Given the description of an element on the screen output the (x, y) to click on. 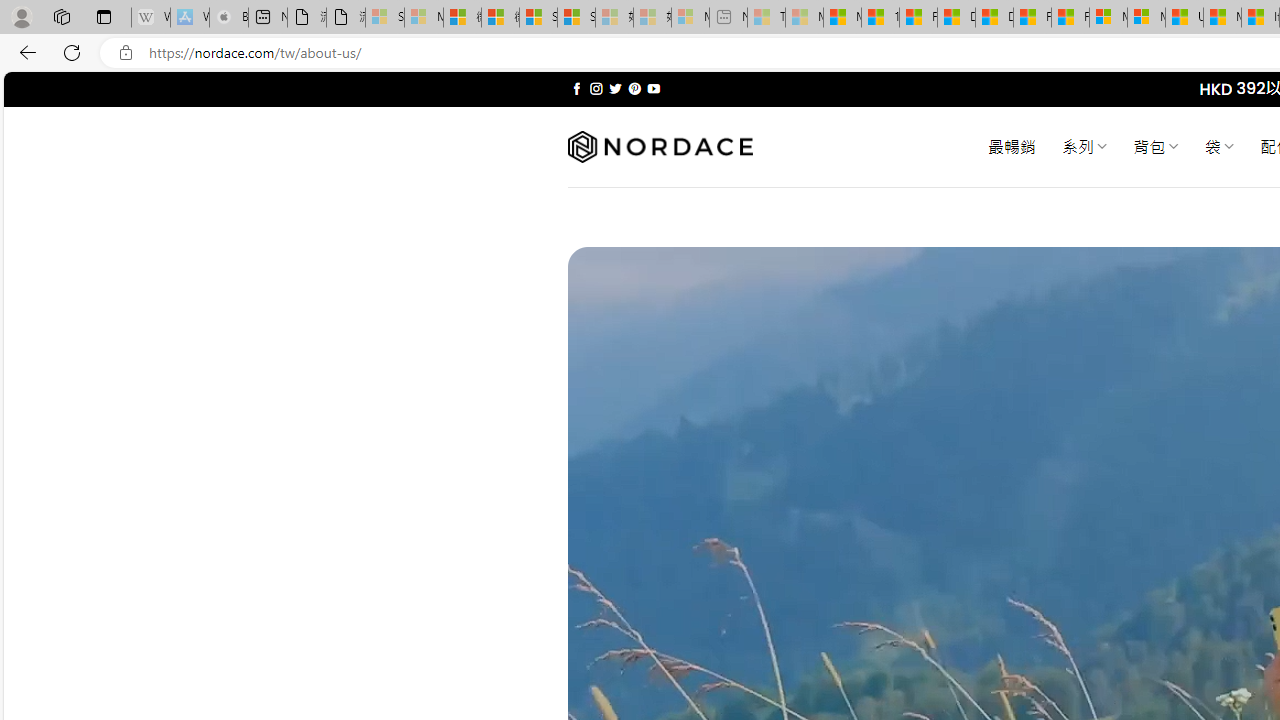
Food and Drink - MSN (917, 17)
Foo BAR | Trusted Community Engagement and Contributions (1070, 17)
Follow on Pinterest (634, 88)
Sign in to your Microsoft account - Sleeping (385, 17)
Microsoft Services Agreement - Sleeping (423, 17)
Buy iPad - Apple - Sleeping (228, 17)
Follow on Instagram (596, 88)
